Given the description of an element on the screen output the (x, y) to click on. 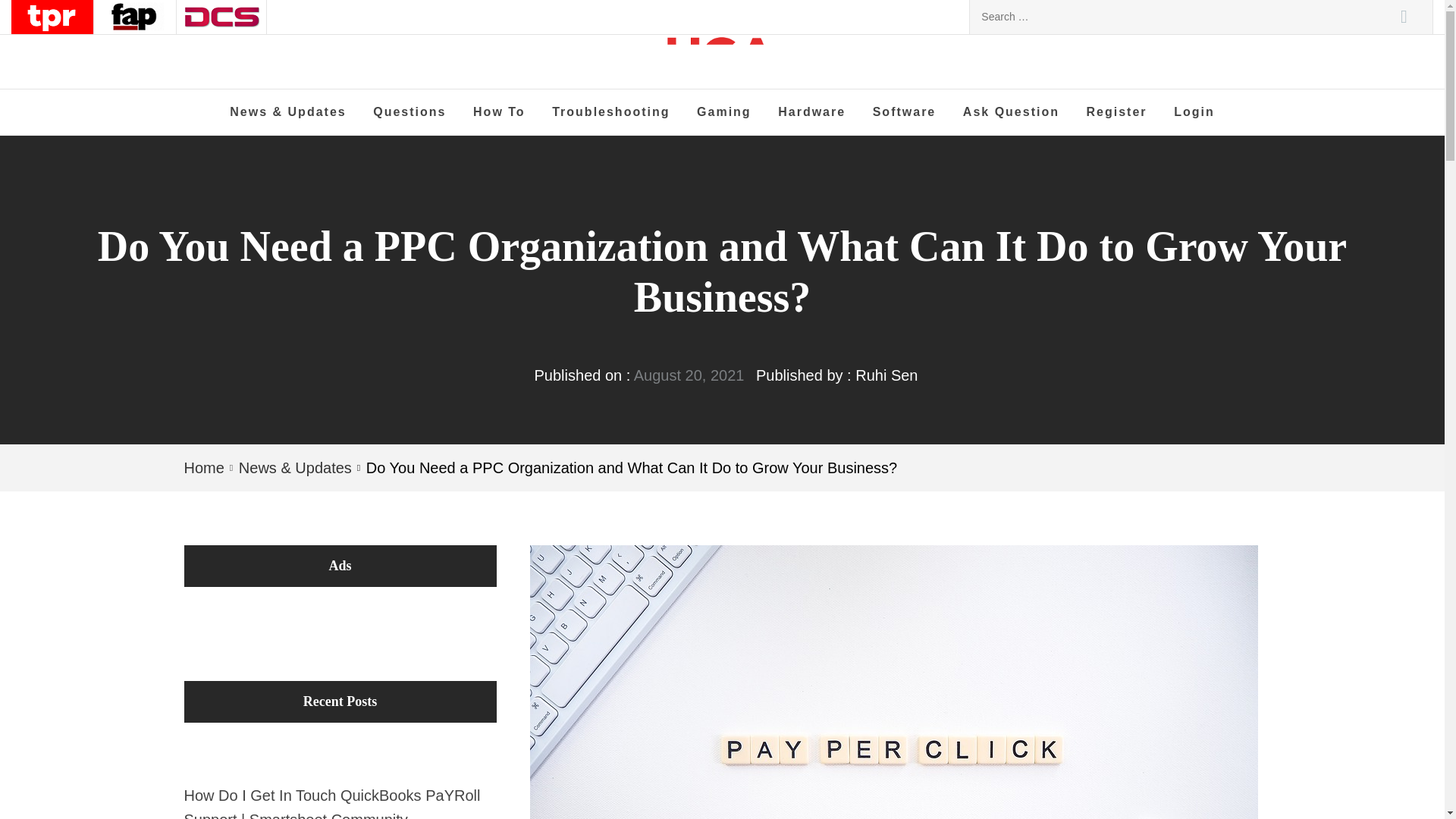
Hardware (812, 112)
Questions (409, 112)
Register (1116, 112)
Login (1193, 112)
Search (1403, 17)
Search (1403, 17)
How To (499, 112)
Troubleshooting (610, 112)
August 20, 2021 (688, 375)
